Given the description of an element on the screen output the (x, y) to click on. 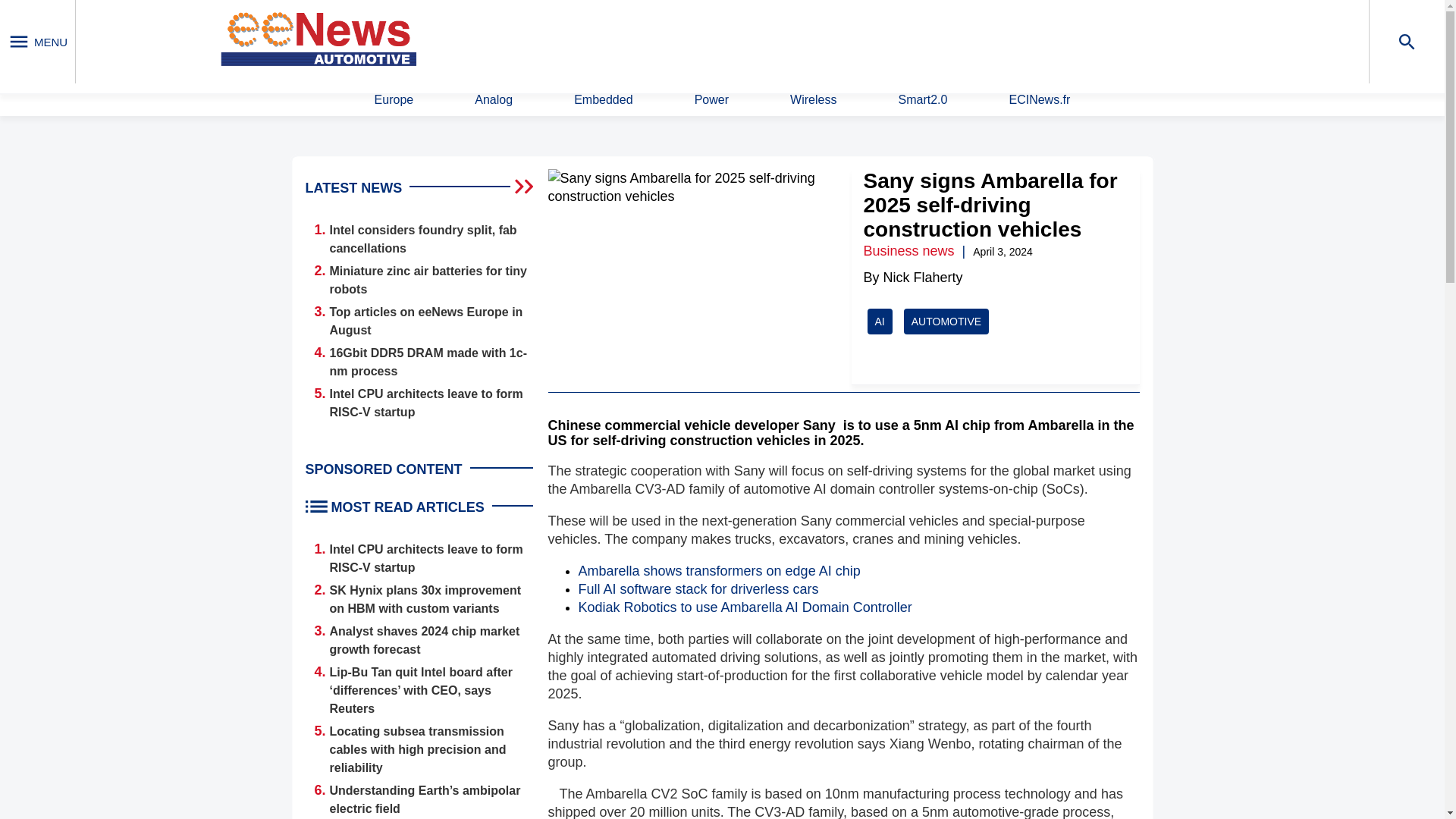
Smart2.0 (922, 99)
Analog (493, 99)
Wireless (812, 99)
Embedded (602, 99)
Europe (393, 99)
ECINews.fr (1039, 99)
Search (949, 40)
Power (711, 99)
